Given the description of an element on the screen output the (x, y) to click on. 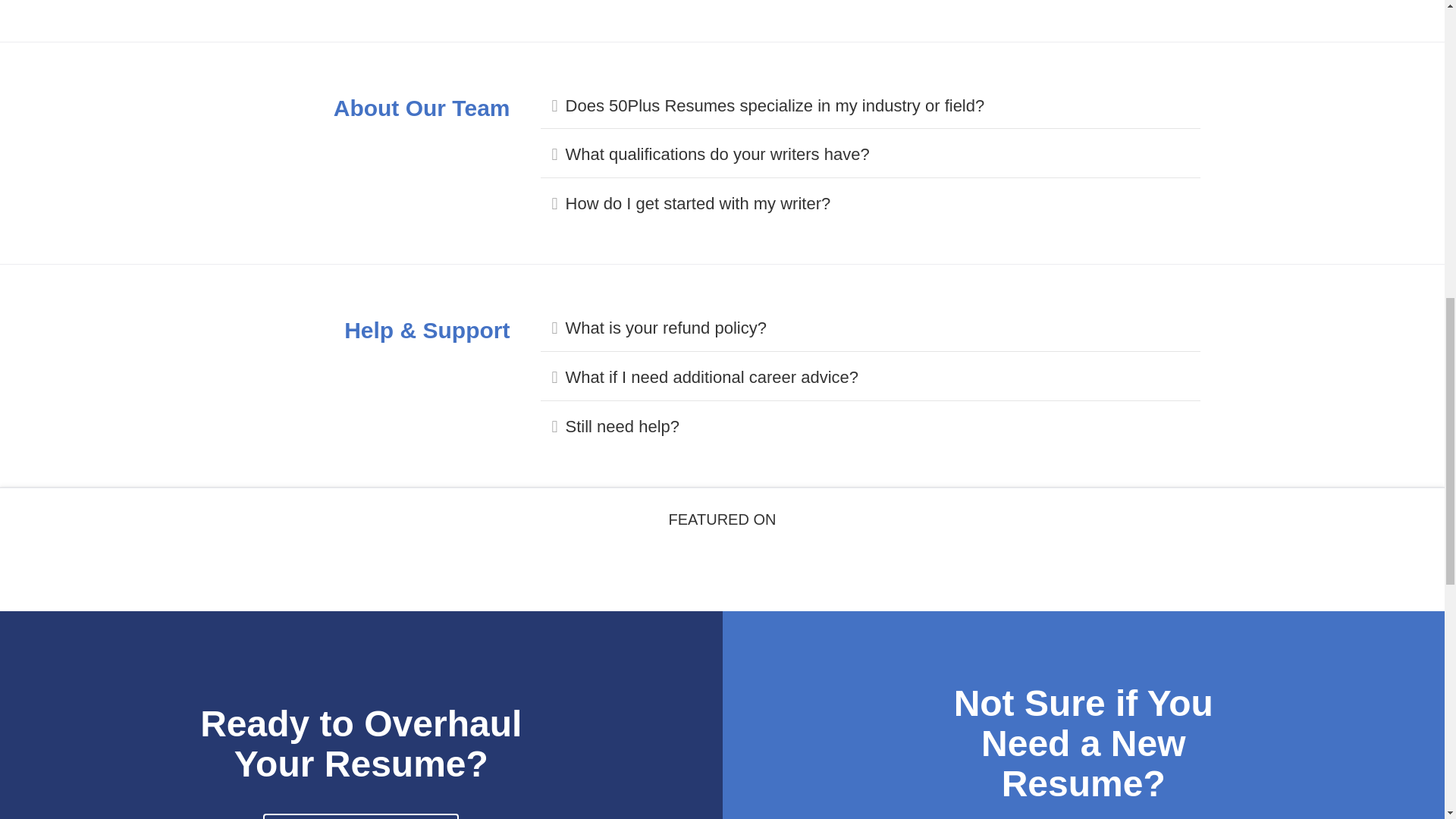
What if I need additional career advice? (877, 377)
Overhaul My Resume (360, 816)
Does 50Plus Resumes specialize in my industry or field? (877, 106)
How do I get started with my writer? (877, 204)
Still need help? (877, 427)
What qualifications do your writers have? (877, 155)
What is your refund policy? (877, 328)
